Given the description of an element on the screen output the (x, y) to click on. 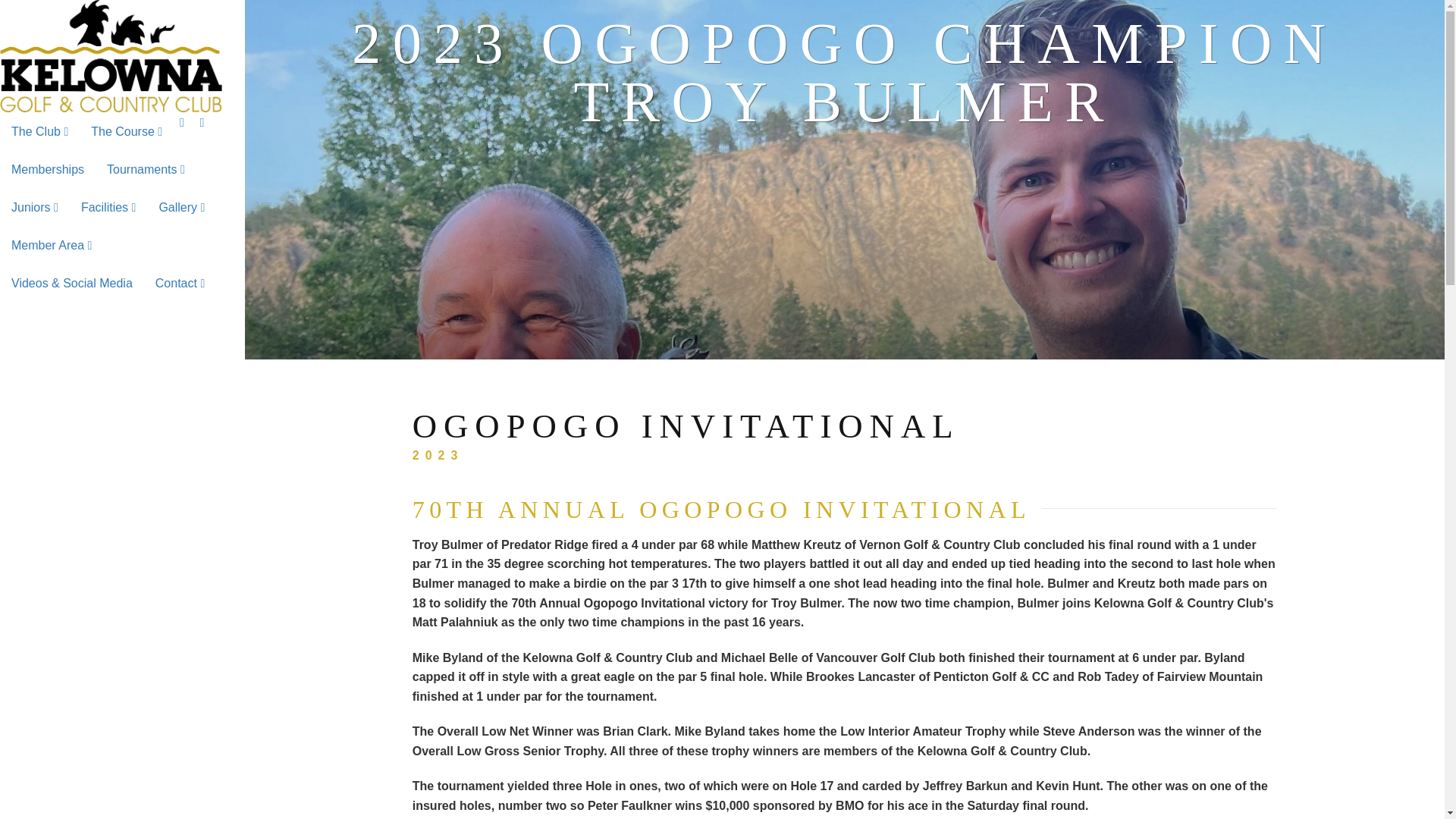
Memberships (48, 169)
Gallery (181, 207)
Tournaments (146, 169)
Facilities (108, 207)
Juniors (34, 207)
Contact (179, 283)
The Course (126, 131)
The Club (40, 131)
Member Area (51, 245)
